Given the description of an element on the screen output the (x, y) to click on. 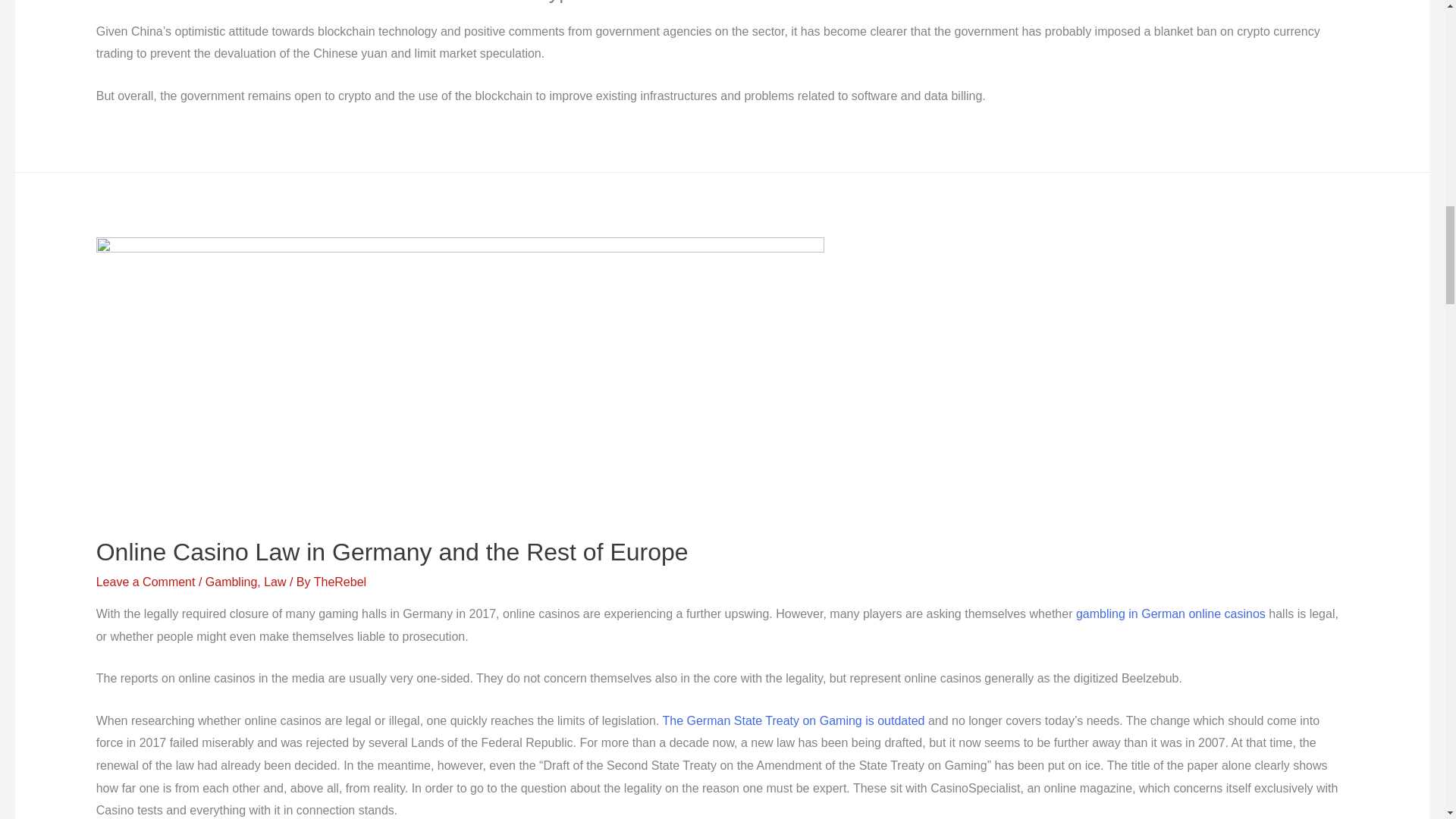
Gambling (231, 581)
Leave a Comment (145, 581)
Online Casino Law in Germany and the Rest of Europe (392, 551)
gambling in German online casinos (1170, 613)
The German State Treaty on Gaming is outdated (793, 720)
Law (274, 581)
View all posts by TheRebel (340, 581)
TheRebel (340, 581)
